Given the description of an element on the screen output the (x, y) to click on. 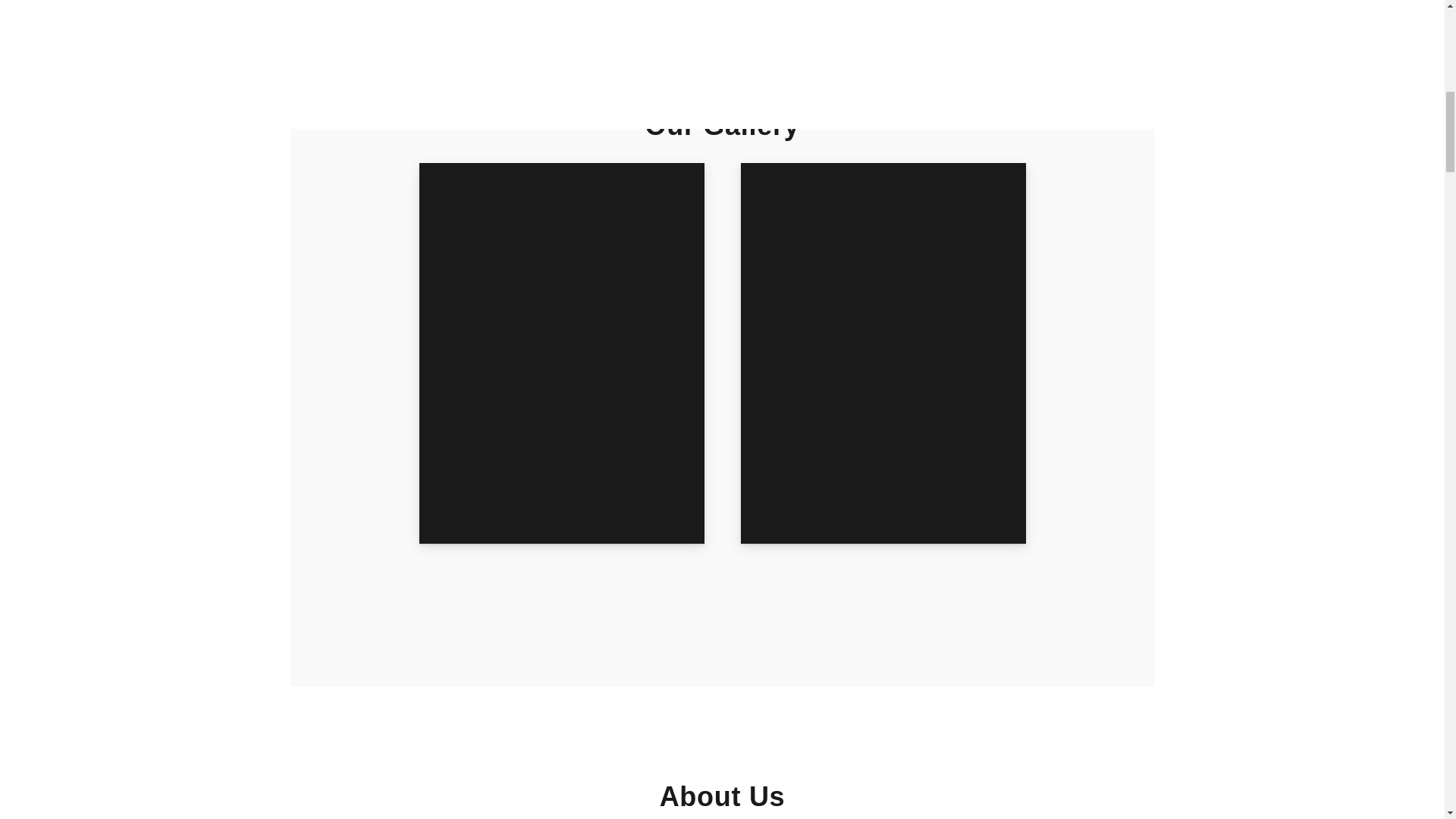
Back to top (1413, 30)
